Given the description of an element on the screen output the (x, y) to click on. 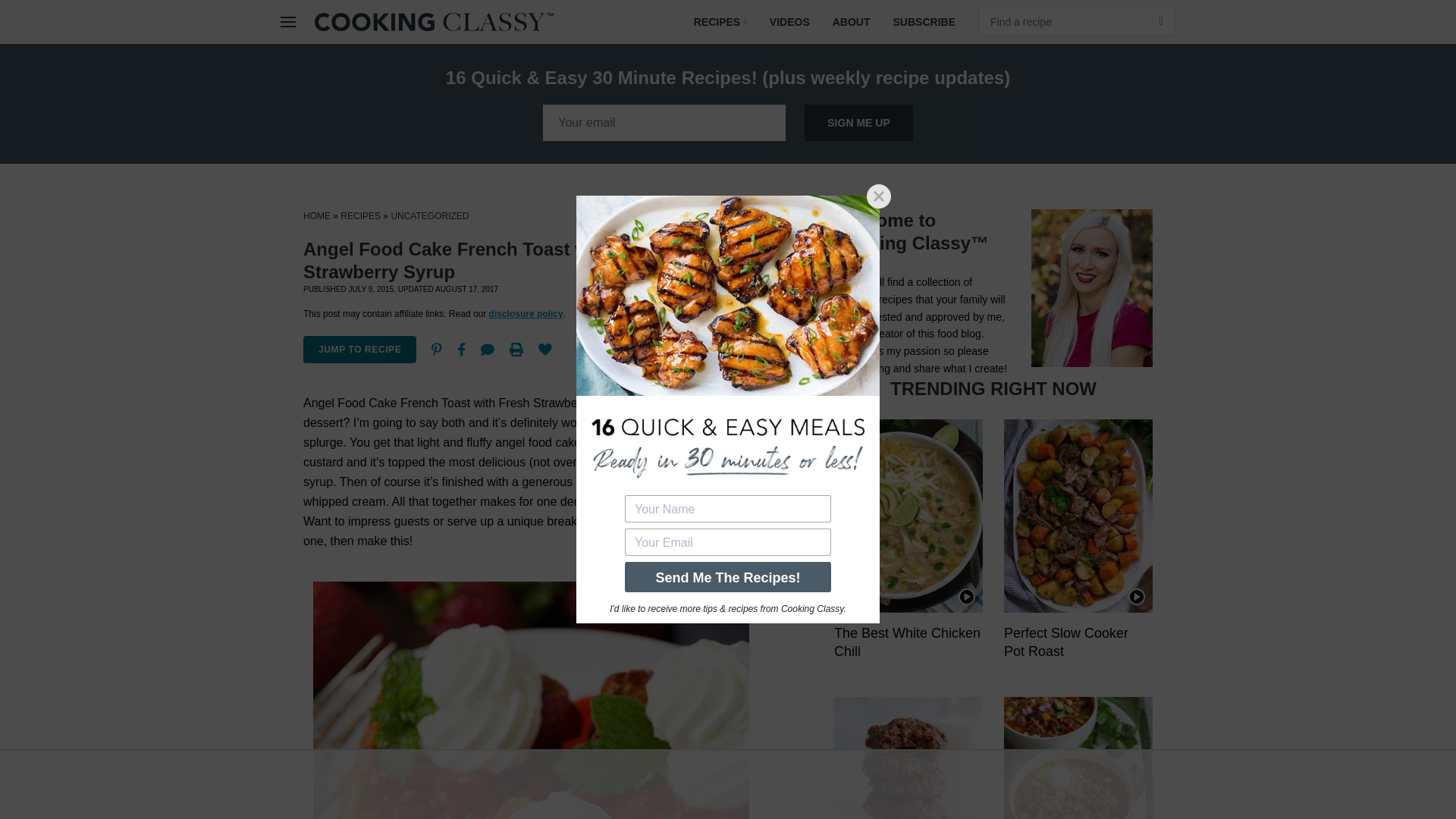
Sign Me Up (858, 122)
Submit (1160, 22)
VIDEOS (789, 22)
Menu (287, 22)
Print (516, 349)
SUBSCRIBE (924, 22)
Close (878, 195)
RECIPES (720, 22)
Share (461, 349)
ABOUT (851, 22)
Send Me The Recipes! (727, 576)
Save (545, 349)
Pin (436, 349)
Comments (487, 349)
